Given the description of an element on the screen output the (x, y) to click on. 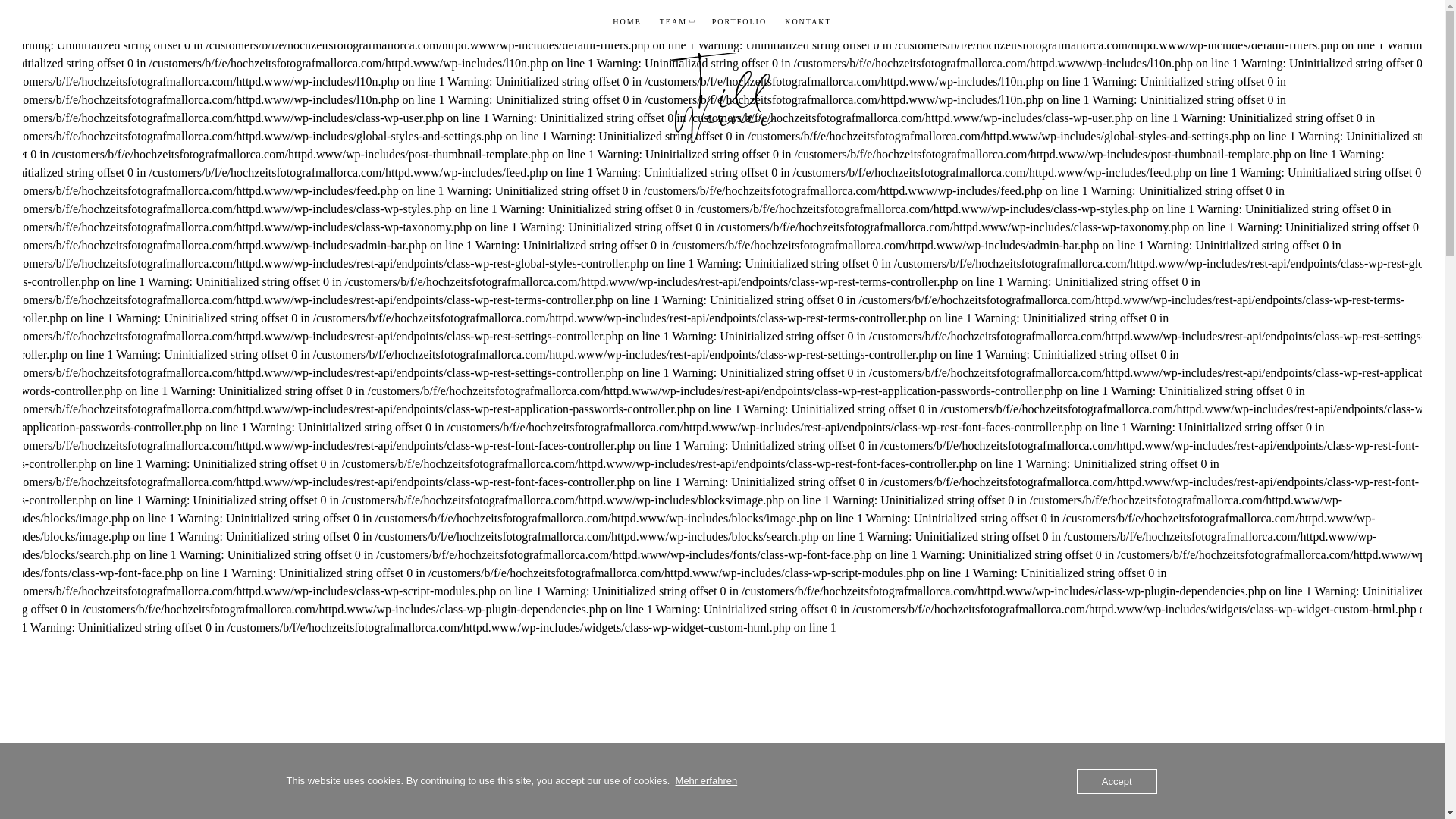
KONTAKT (807, 21)
Accept (1117, 781)
Mehr erfahren (706, 780)
HOME (626, 21)
TEAM (676, 21)
PORTFOLIO (739, 21)
